Given the description of an element on the screen output the (x, y) to click on. 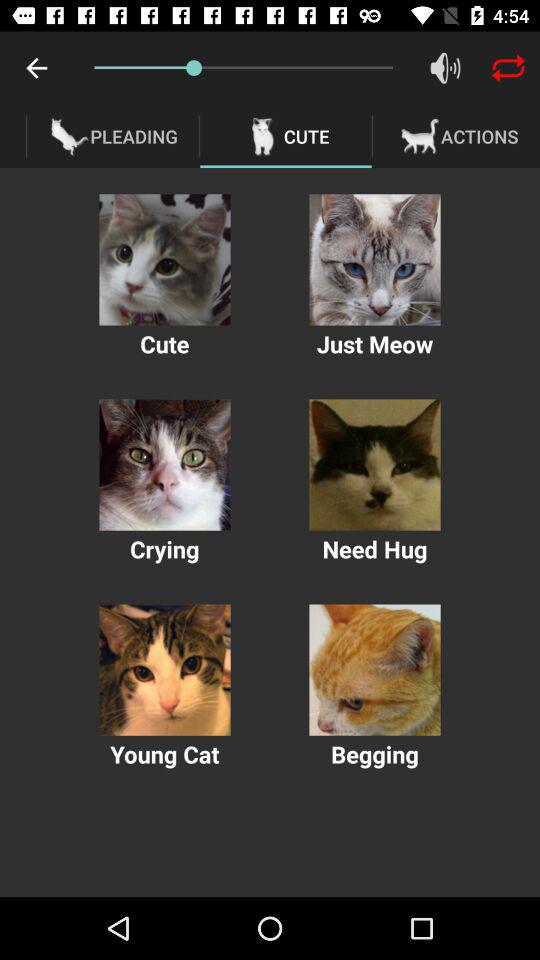
asks for a virtual hug (374, 464)
